Given the description of an element on the screen output the (x, y) to click on. 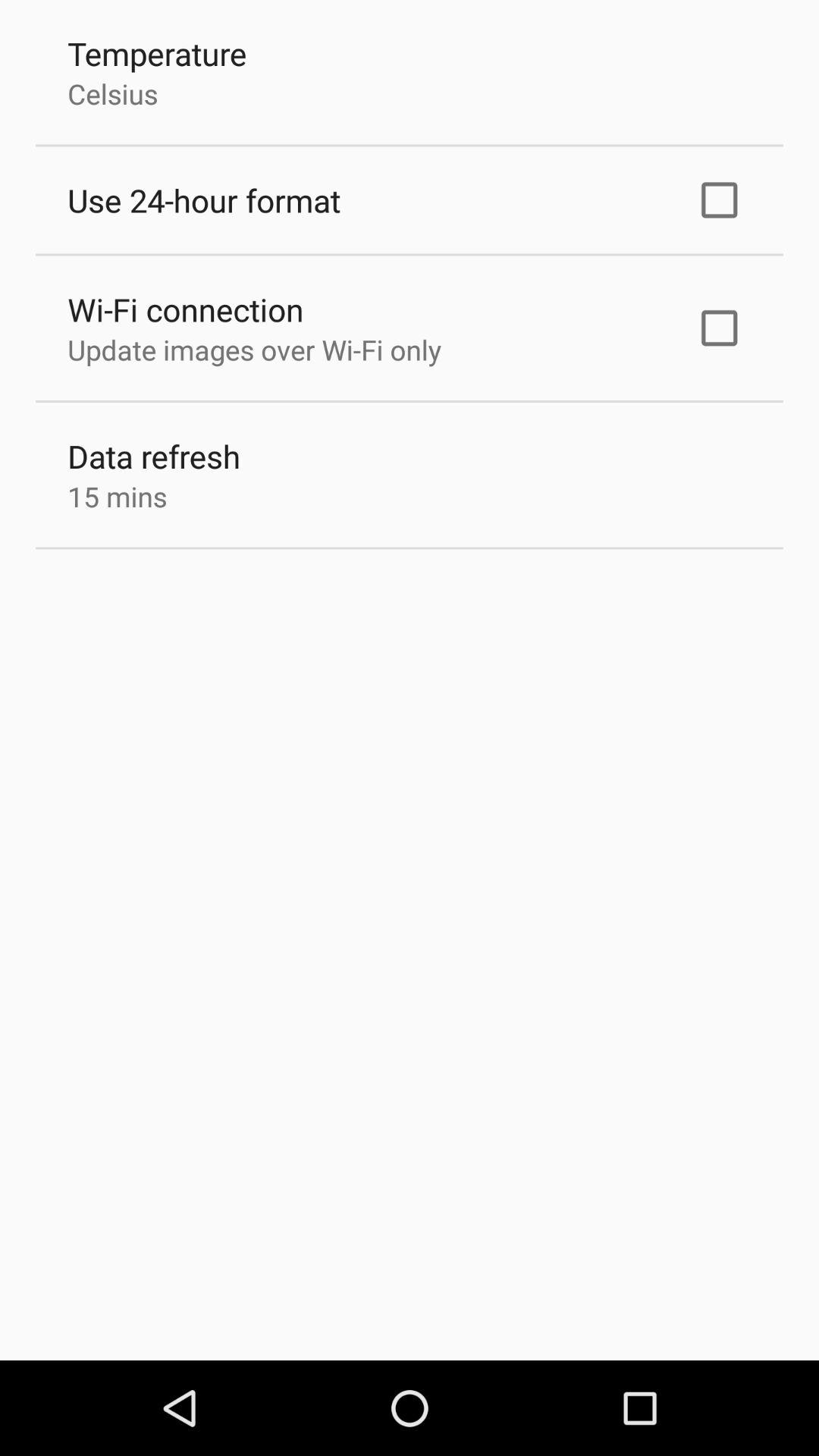
swipe to update images over item (254, 349)
